Given the description of an element on the screen output the (x, y) to click on. 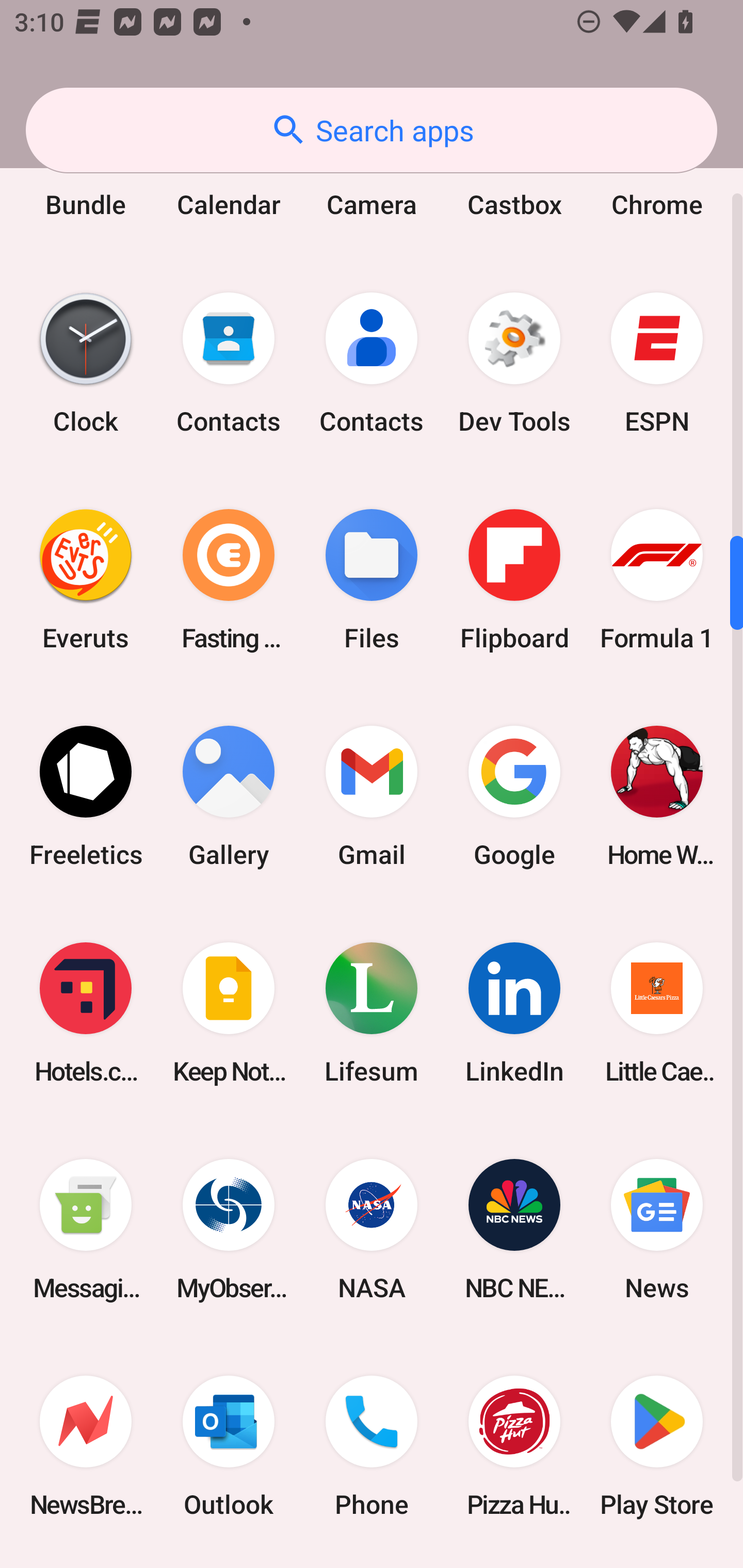
  Search apps (371, 130)
Clock (85, 362)
Contacts (228, 362)
Contacts (371, 362)
Dev Tools (514, 362)
ESPN (656, 362)
Everuts (85, 579)
Fasting Coach (228, 579)
Files (371, 579)
Flipboard (514, 579)
Formula 1 (656, 579)
Freeletics (85, 796)
Gallery (228, 796)
Gmail (371, 796)
Google (514, 796)
Home Workout (656, 796)
Hotels.com (85, 1012)
Keep Notes (228, 1012)
Lifesum (371, 1012)
LinkedIn (514, 1012)
Little Caesars Pizza (656, 1012)
Messaging (85, 1229)
MyObservatory (228, 1229)
NASA (371, 1229)
NBC NEWS (514, 1229)
News (656, 1229)
NewsBreak (85, 1445)
Outlook (228, 1445)
Phone (371, 1445)
Pizza Hut HK & Macau (514, 1445)
Play Store (656, 1445)
